Given the description of an element on the screen output the (x, y) to click on. 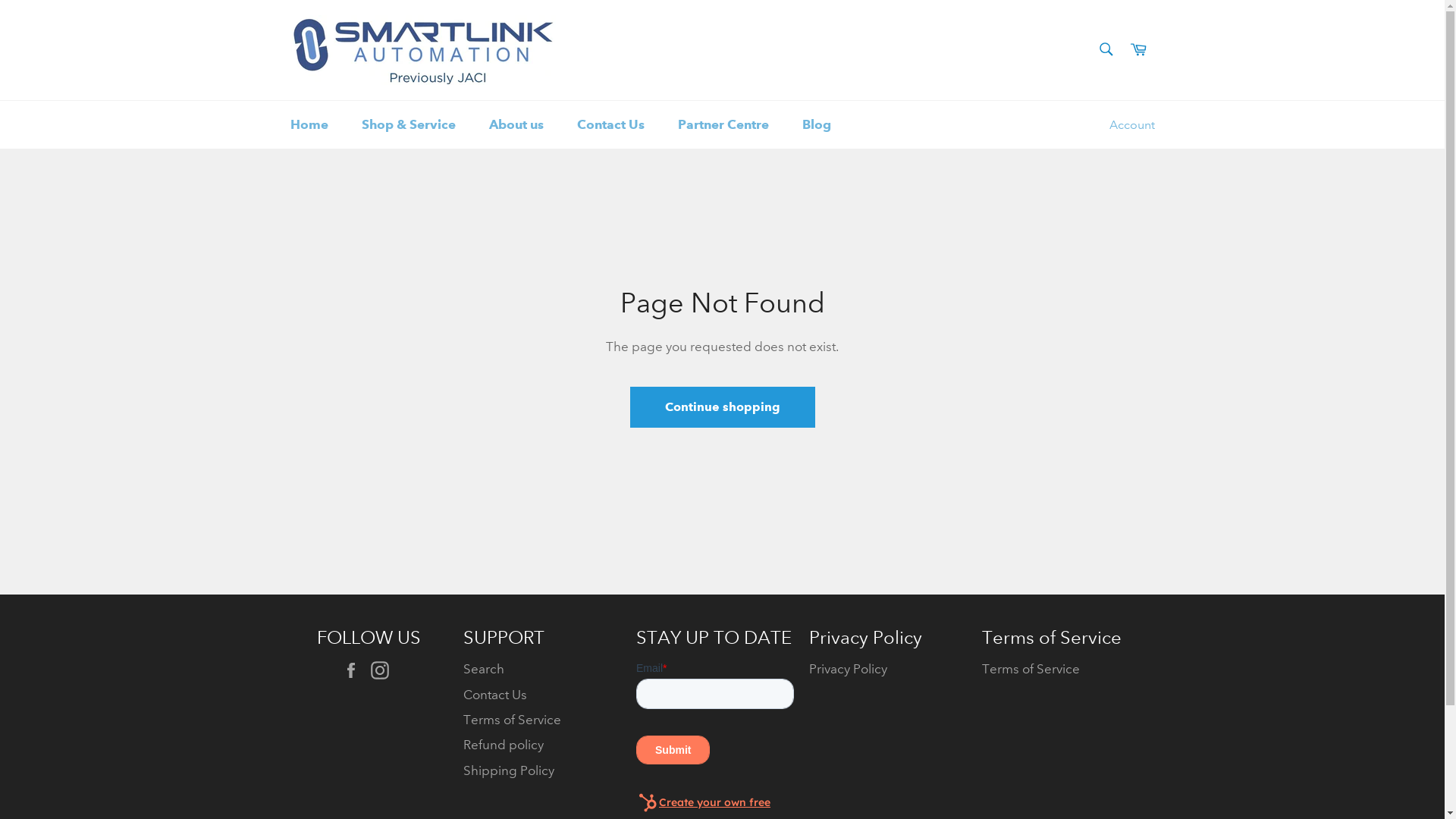
Cart Element type: text (1138, 50)
Facebook Element type: text (354, 669)
Privacy Policy Element type: text (847, 669)
Blog Element type: text (816, 124)
Home Element type: text (308, 124)
Continue shopping Element type: text (721, 406)
Search Element type: text (482, 669)
Contact Us Element type: text (494, 694)
Partner Centre Element type: text (723, 124)
Account Element type: text (1131, 124)
Refund policy Element type: text (502, 745)
Shipping Policy Element type: text (507, 770)
Terms of Service Element type: text (511, 720)
Instagram Element type: text (382, 669)
Search Element type: text (1105, 49)
Terms of Service Element type: text (1030, 669)
Shop & Service Element type: text (407, 124)
About us Element type: text (515, 124)
Contact Us Element type: text (609, 124)
